Given the description of an element on the screen output the (x, y) to click on. 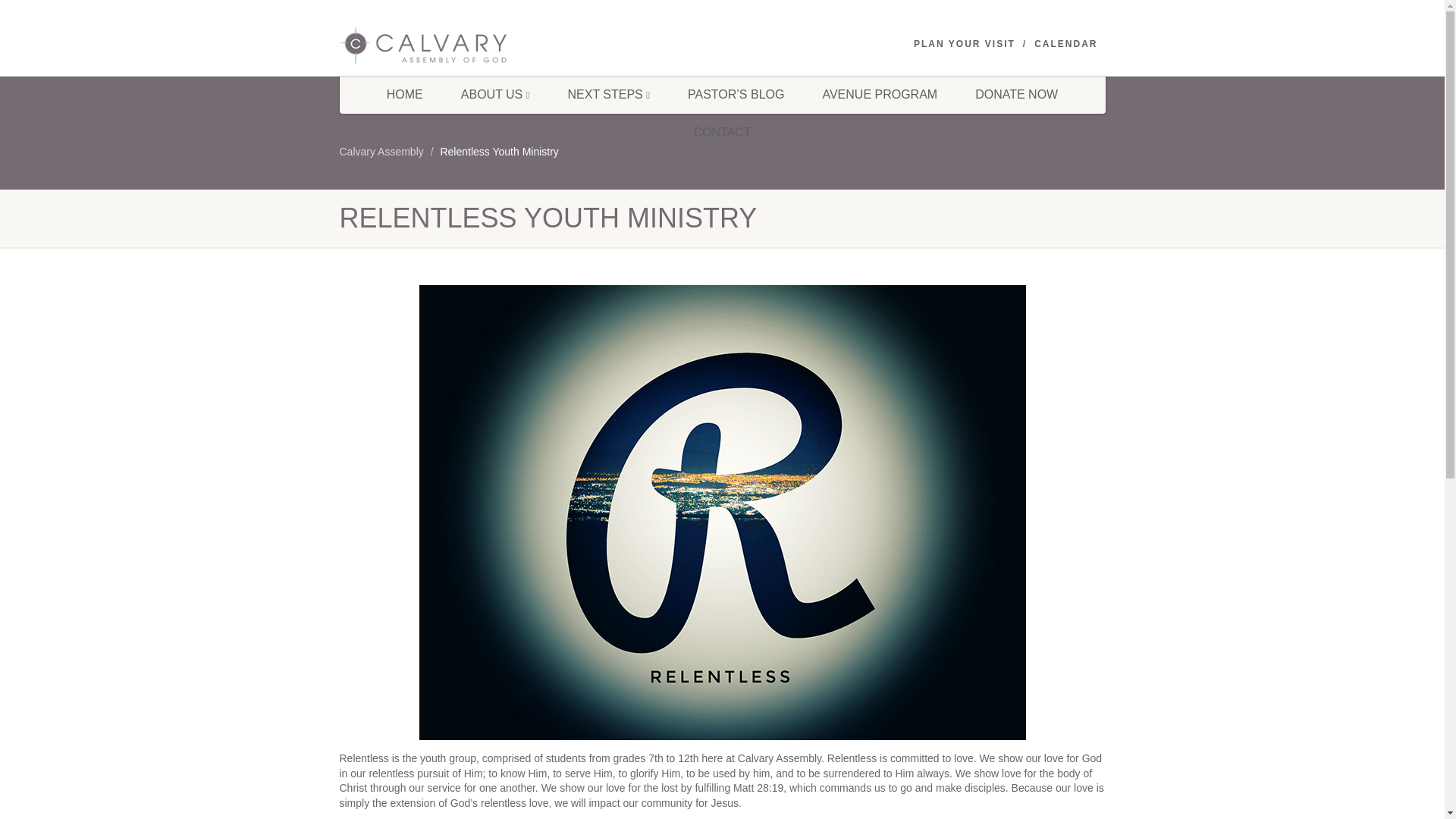
PLAN YOUR VISIT (964, 43)
HOME (405, 94)
DONATE NOW (1016, 94)
NEXT STEPS (608, 94)
AVENUE PROGRAM (879, 94)
CONTACT (722, 132)
Logo (459, 46)
CALENDAR (1065, 43)
Go to Calvary Assembly. (381, 151)
ABOUT US (495, 94)
Calvary Assembly (381, 151)
